Given the description of an element on the screen output the (x, y) to click on. 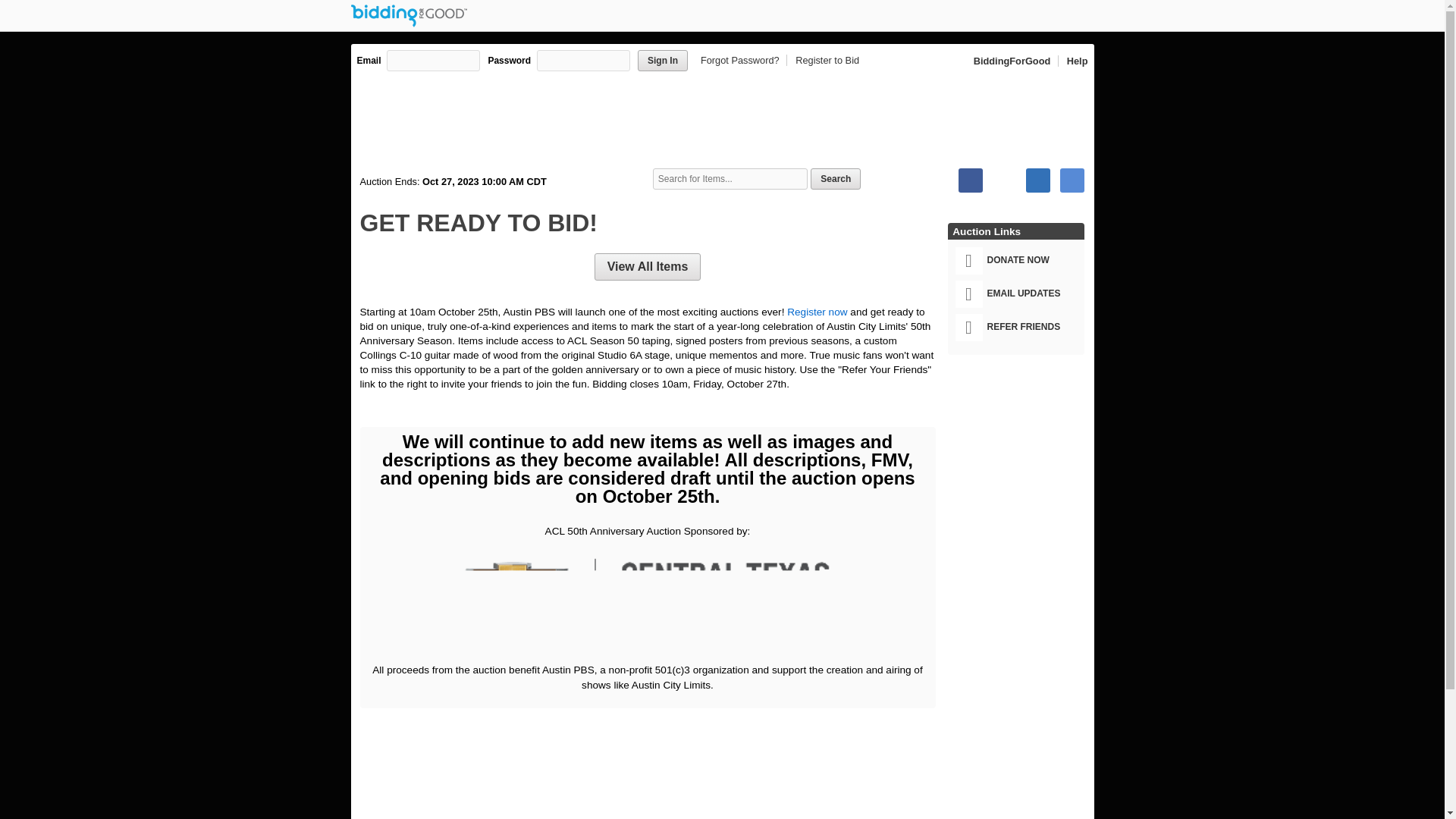
Search (835, 178)
Sign In (662, 60)
Register to Bid (824, 60)
Forgot Password? (741, 60)
Register now (817, 311)
Twitter (1004, 180)
EMAIL UPDATES (1019, 293)
Sign In (662, 60)
Email (1071, 180)
BiddingForGood (1013, 60)
